Given the description of an element on the screen output the (x, y) to click on. 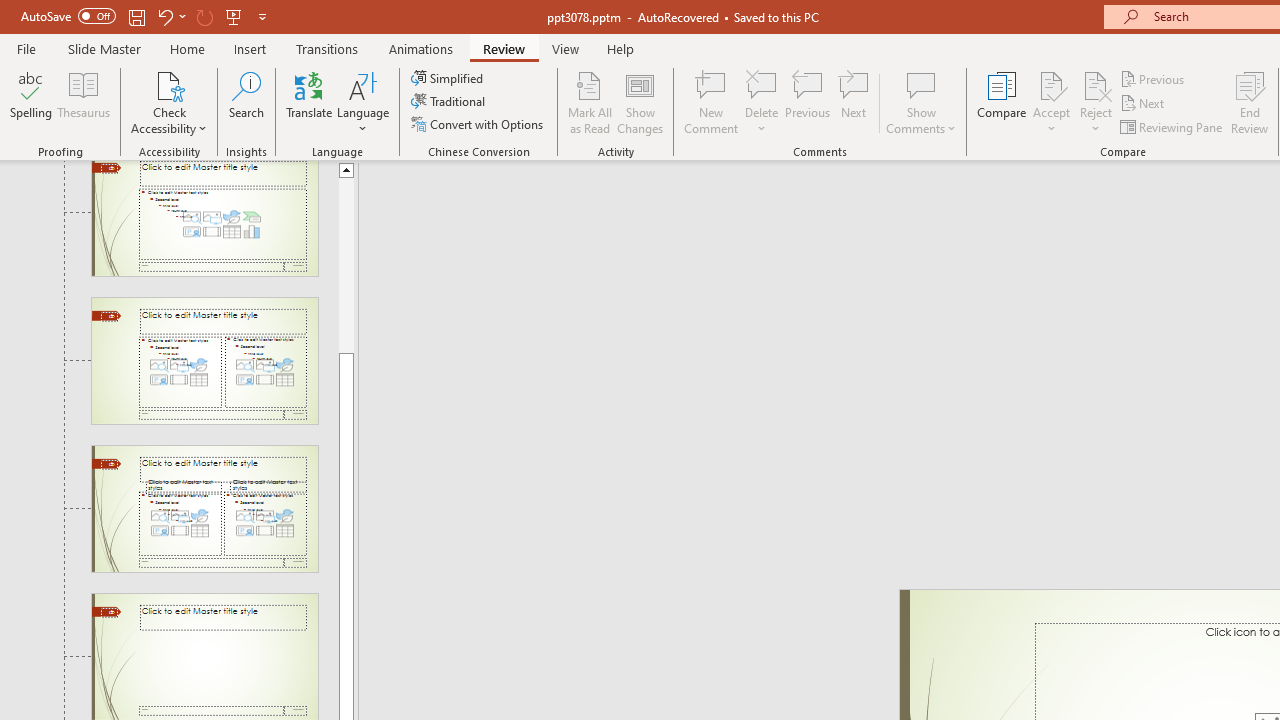
Show Changes (639, 102)
Accept Change (1051, 84)
Reject (1096, 102)
Mark All as Read (589, 102)
Simplified (449, 78)
Slide Title and Content Layout: used by no slides (204, 218)
Next (1144, 103)
